Given the description of an element on the screen output the (x, y) to click on. 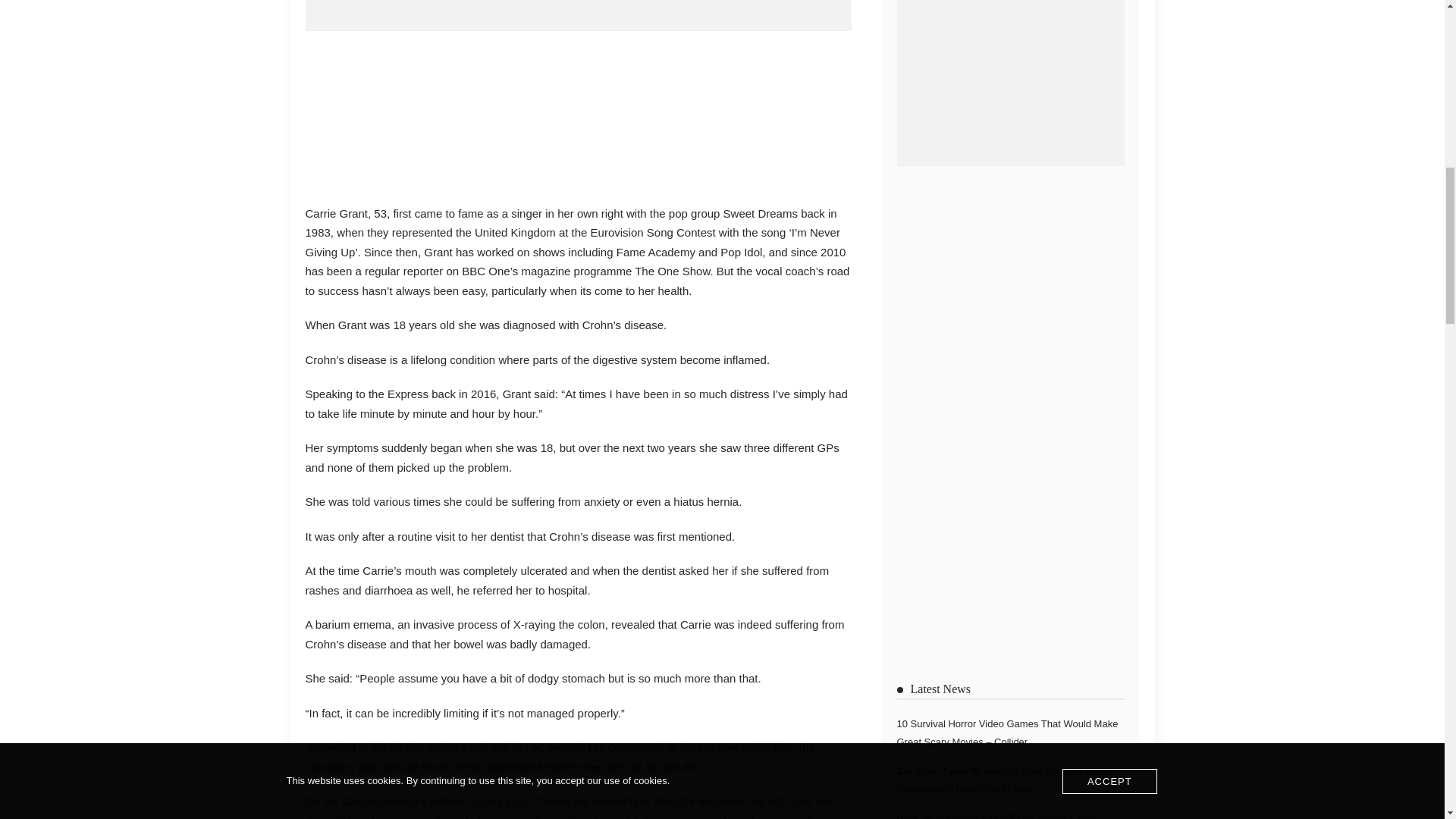
Advertisement (577, 113)
